Given the description of an element on the screen output the (x, y) to click on. 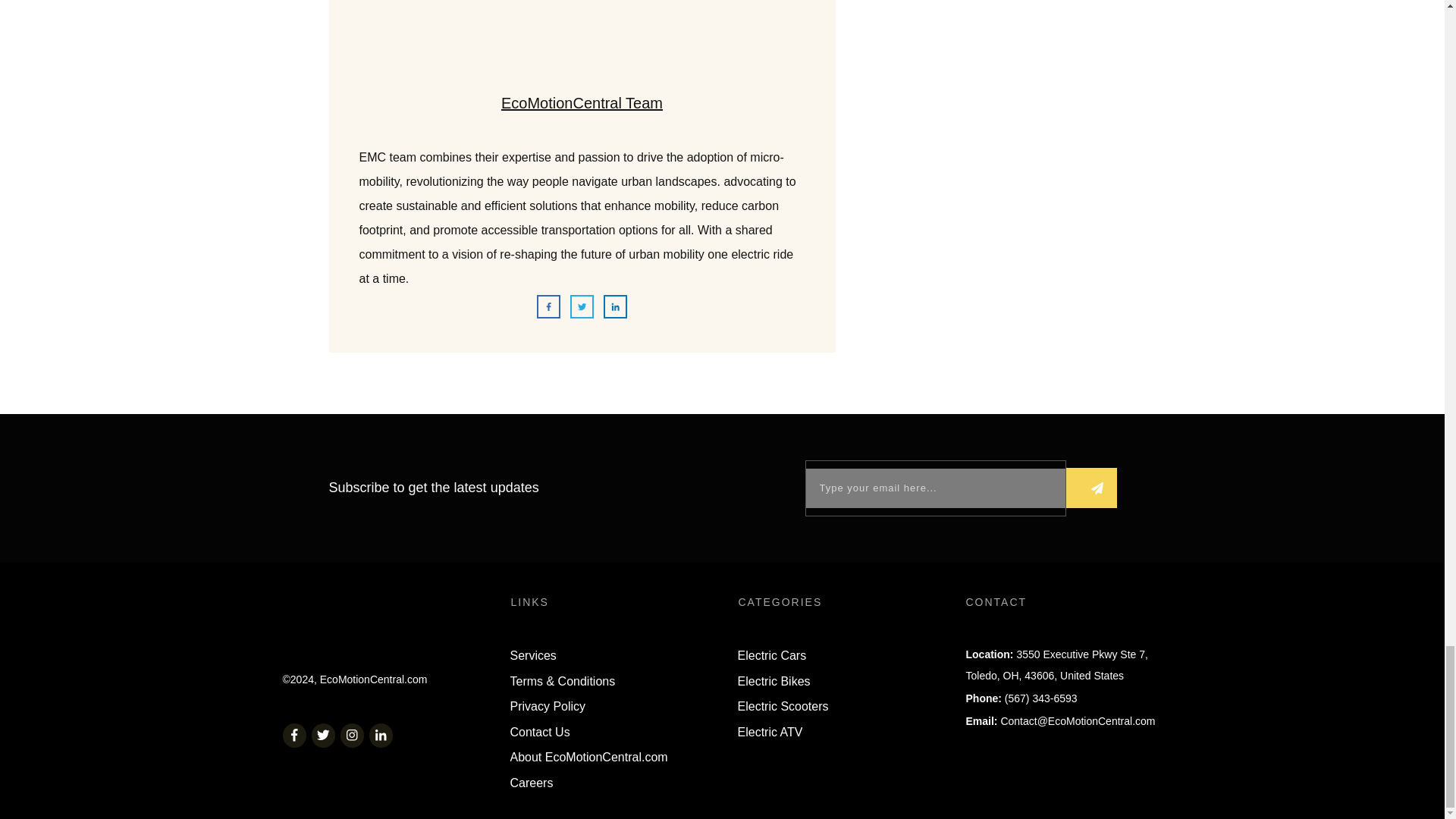
EcoMotionCentral Team (581, 103)
